Given the description of an element on the screen output the (x, y) to click on. 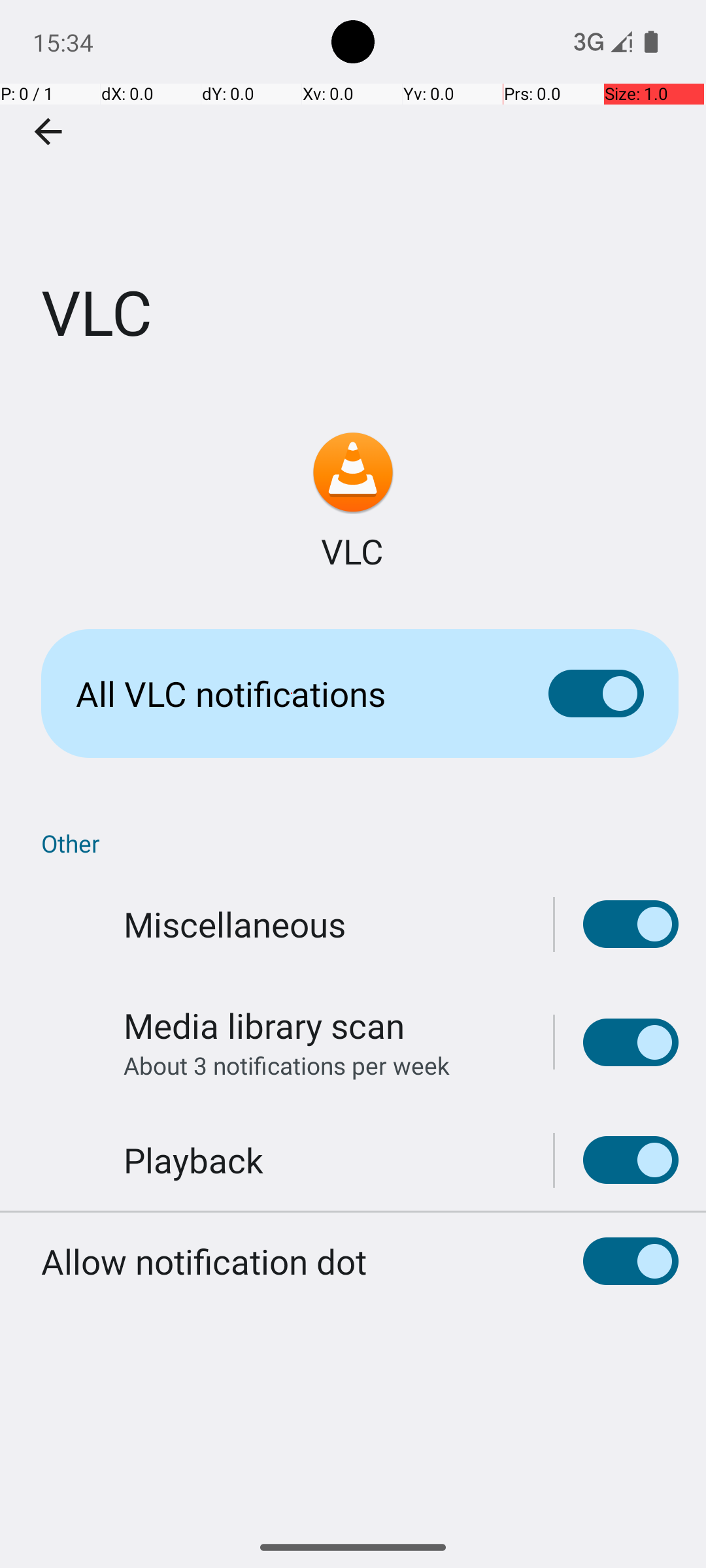
All VLC notifications Element type: android.widget.TextView (291, 693)
Miscellaneous Element type: android.widget.TextView (234, 923)
Media library scan Element type: android.widget.TextView (264, 1025)
About 3 notifications per week Element type: android.widget.TextView (286, 1064)
Playback Element type: android.widget.TextView (193, 1159)
Allow notification dot Element type: android.widget.TextView (203, 1261)
